Given the description of an element on the screen output the (x, y) to click on. 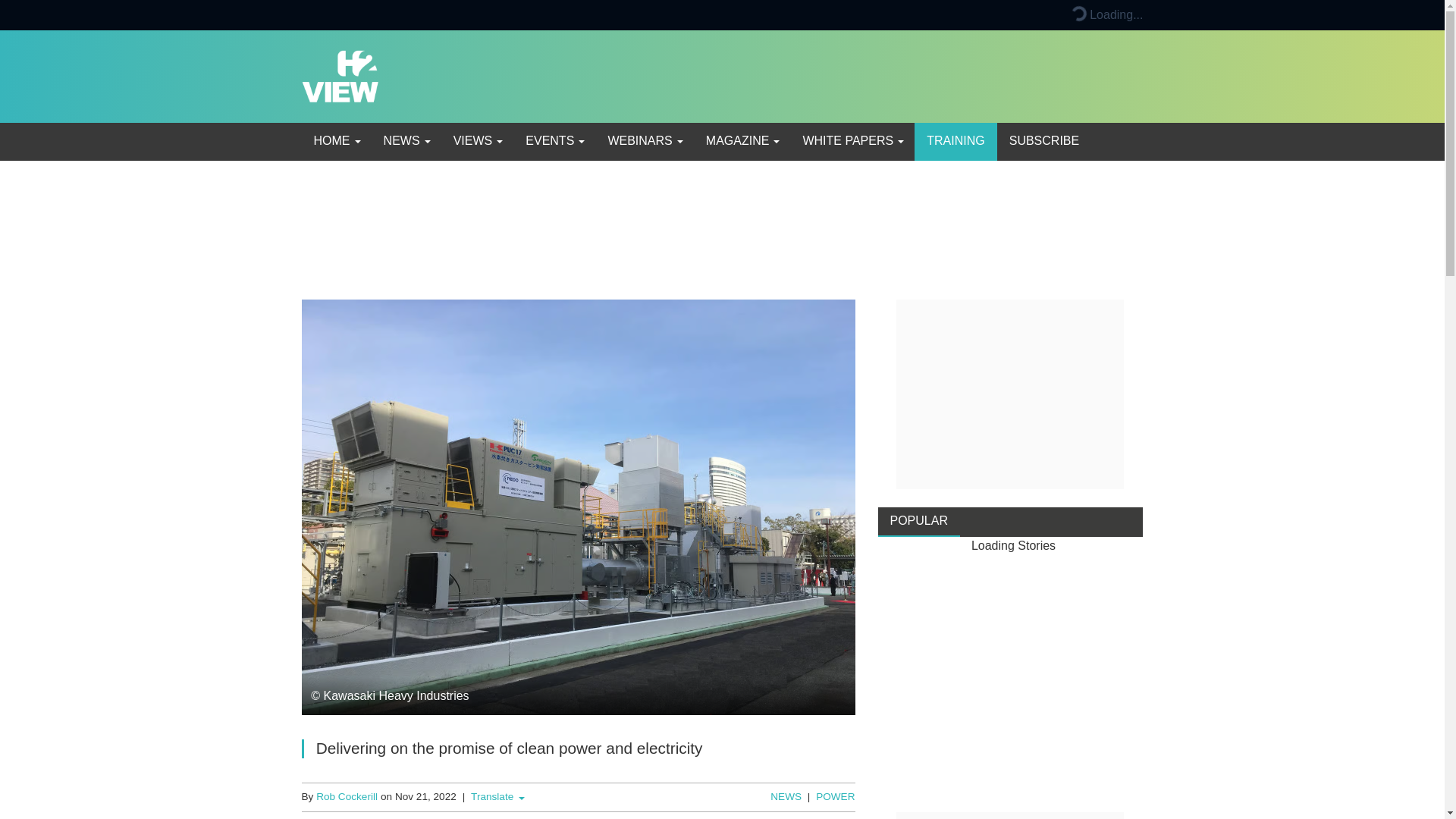
VIEWS (477, 140)
HOME (336, 140)
NEWS (406, 140)
Home (336, 140)
News (406, 140)
H2 View (339, 74)
